Given the description of an element on the screen output the (x, y) to click on. 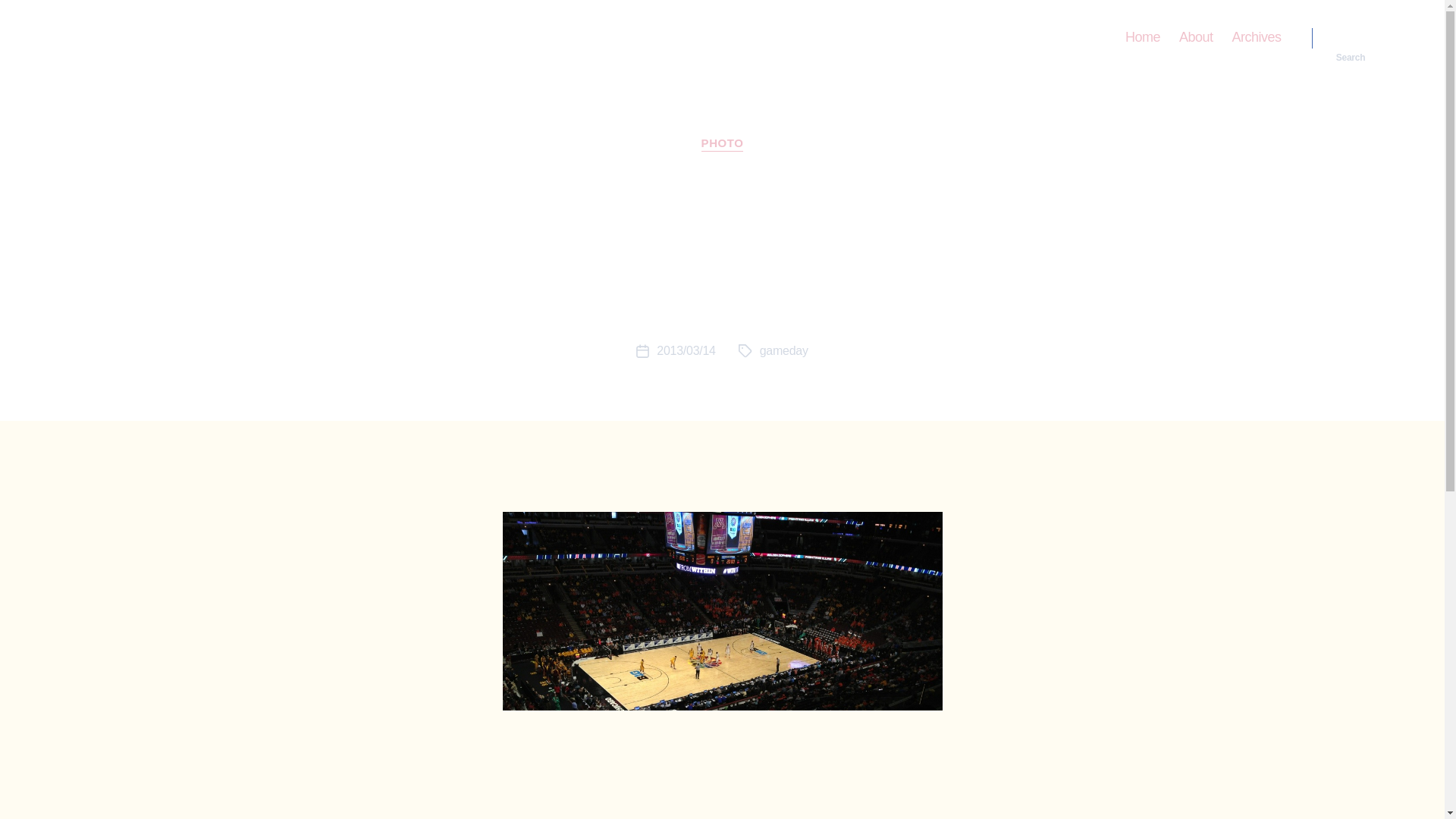
Search (1350, 37)
gameday (784, 350)
About (1195, 37)
Home (1142, 37)
Archives (1256, 37)
PHOTO (722, 143)
John Steffen (135, 37)
